Given the description of an element on the screen output the (x, y) to click on. 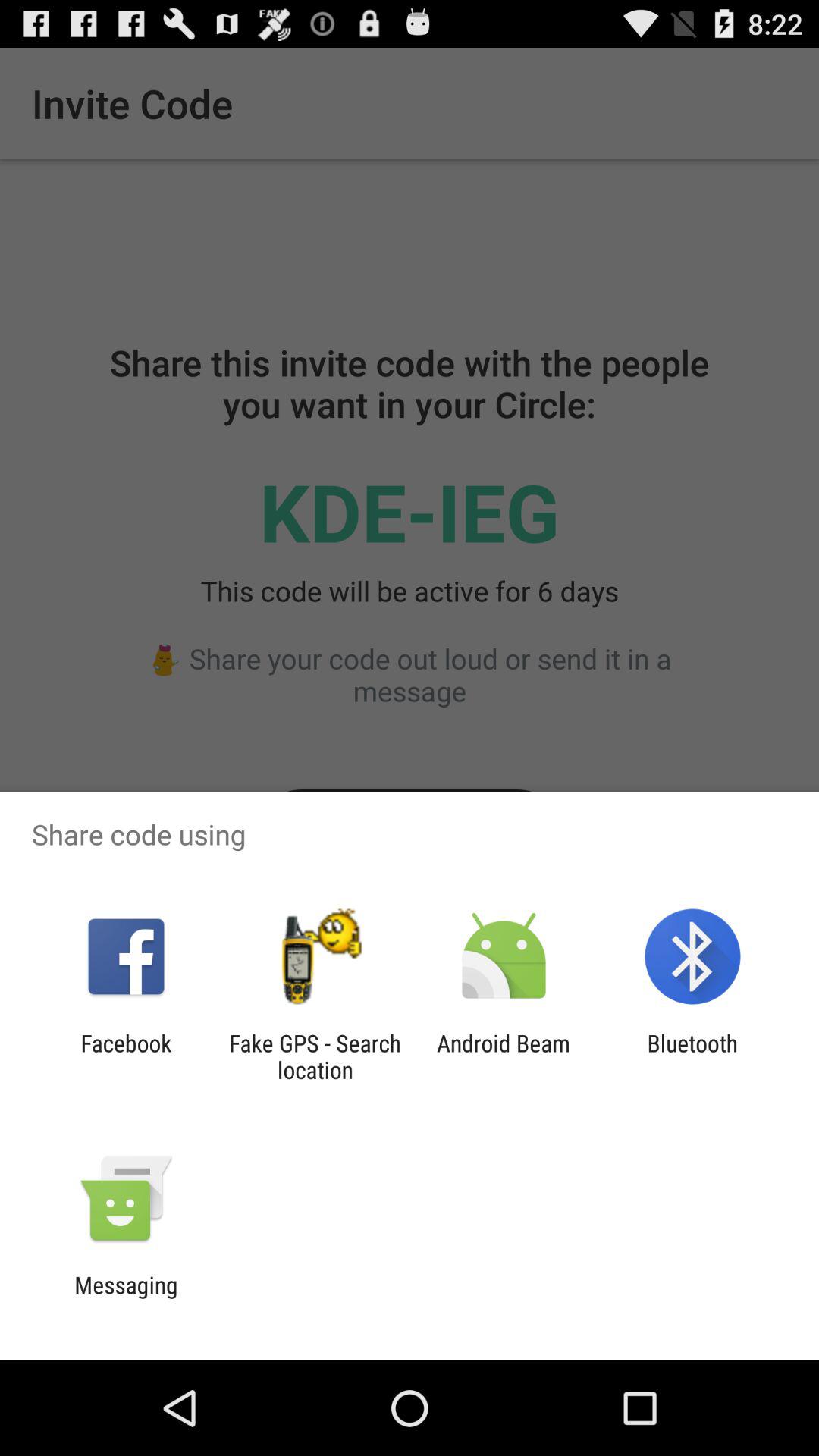
turn off messaging icon (126, 1298)
